Given the description of an element on the screen output the (x, y) to click on. 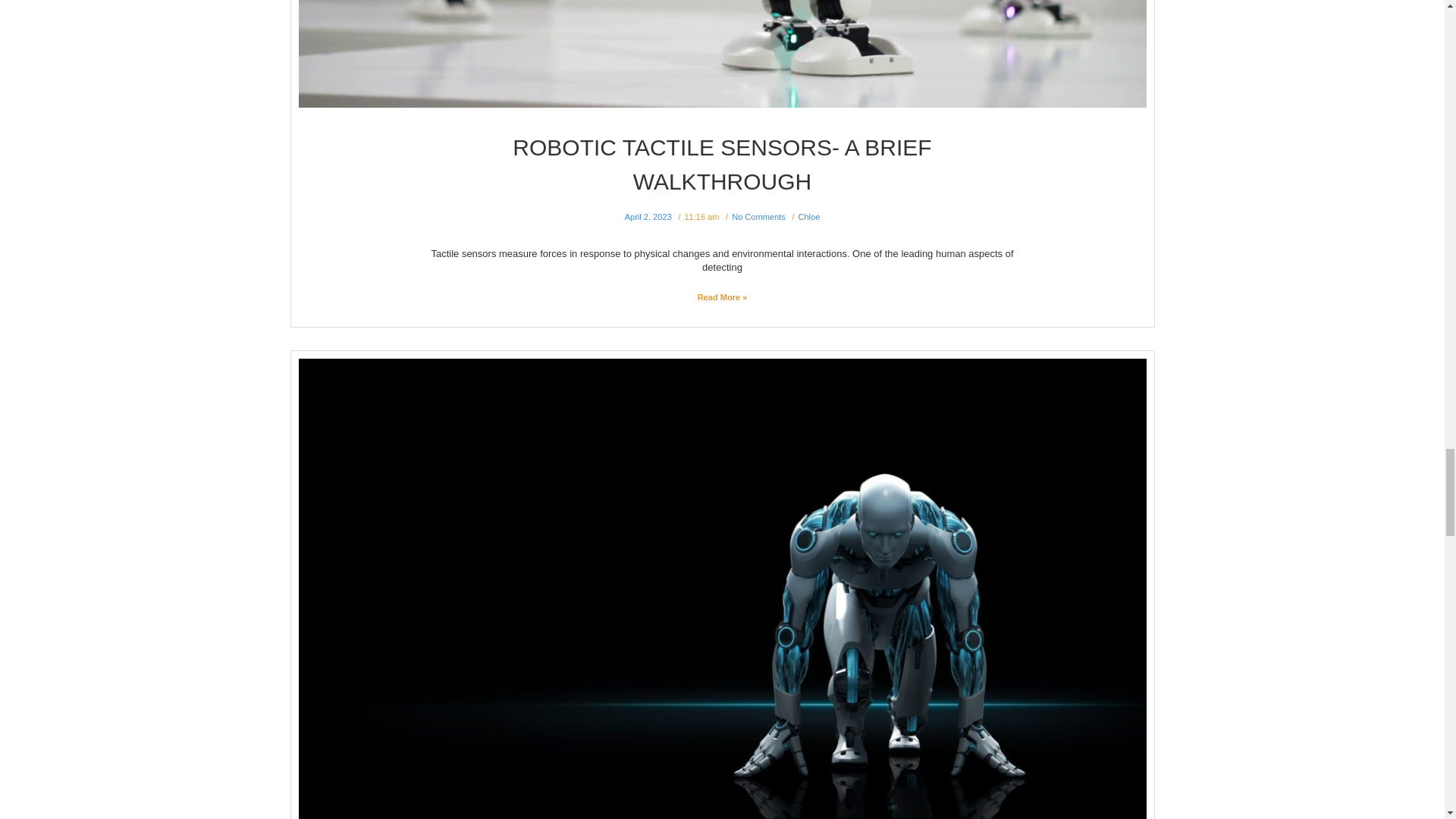
Robotic Tactile Sensors- A Brief Walkthrough (722, 53)
